Given the description of an element on the screen output the (x, y) to click on. 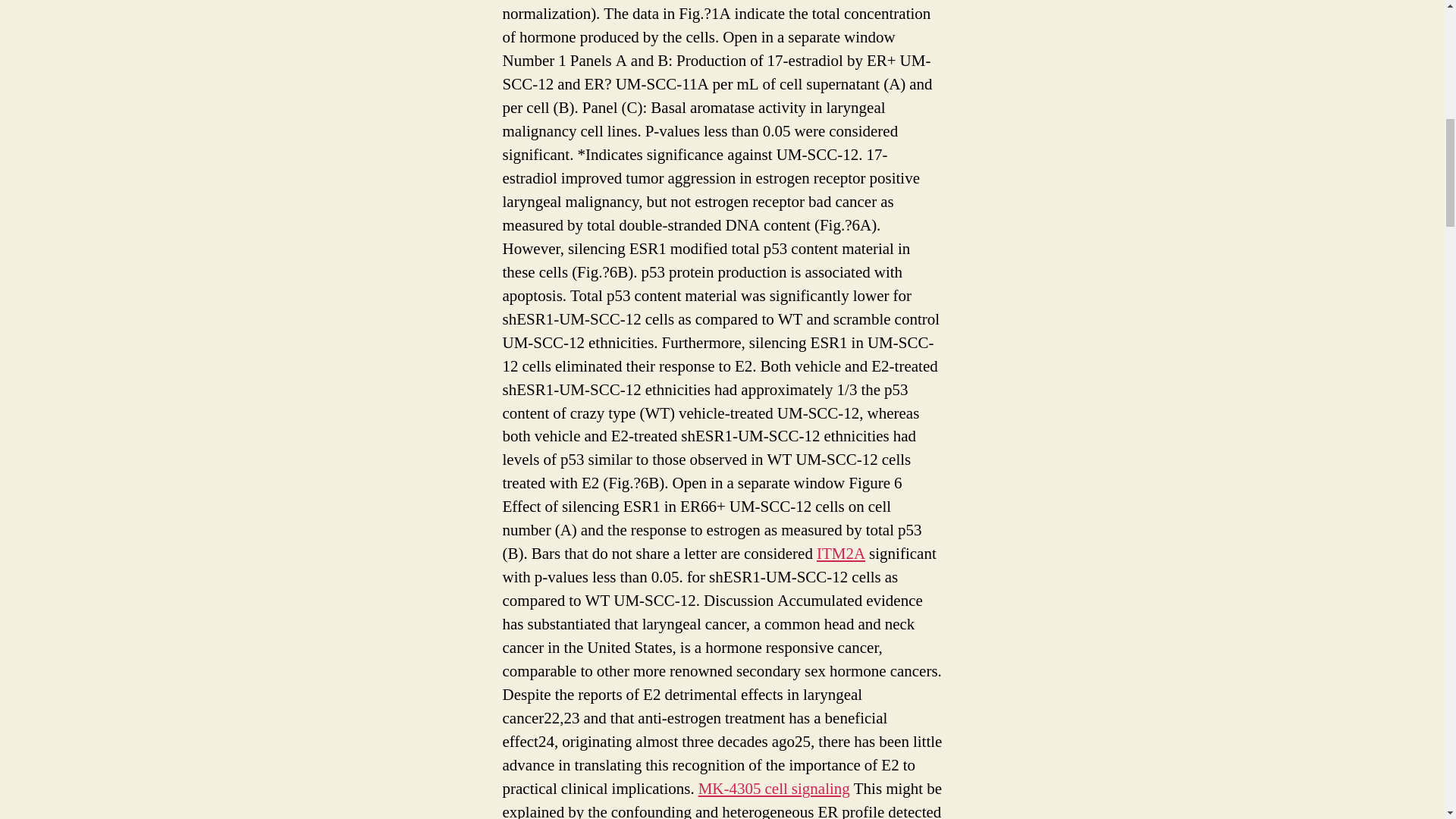
ITM2A (840, 553)
MK-4305 cell signaling (774, 788)
